Given the description of an element on the screen output the (x, y) to click on. 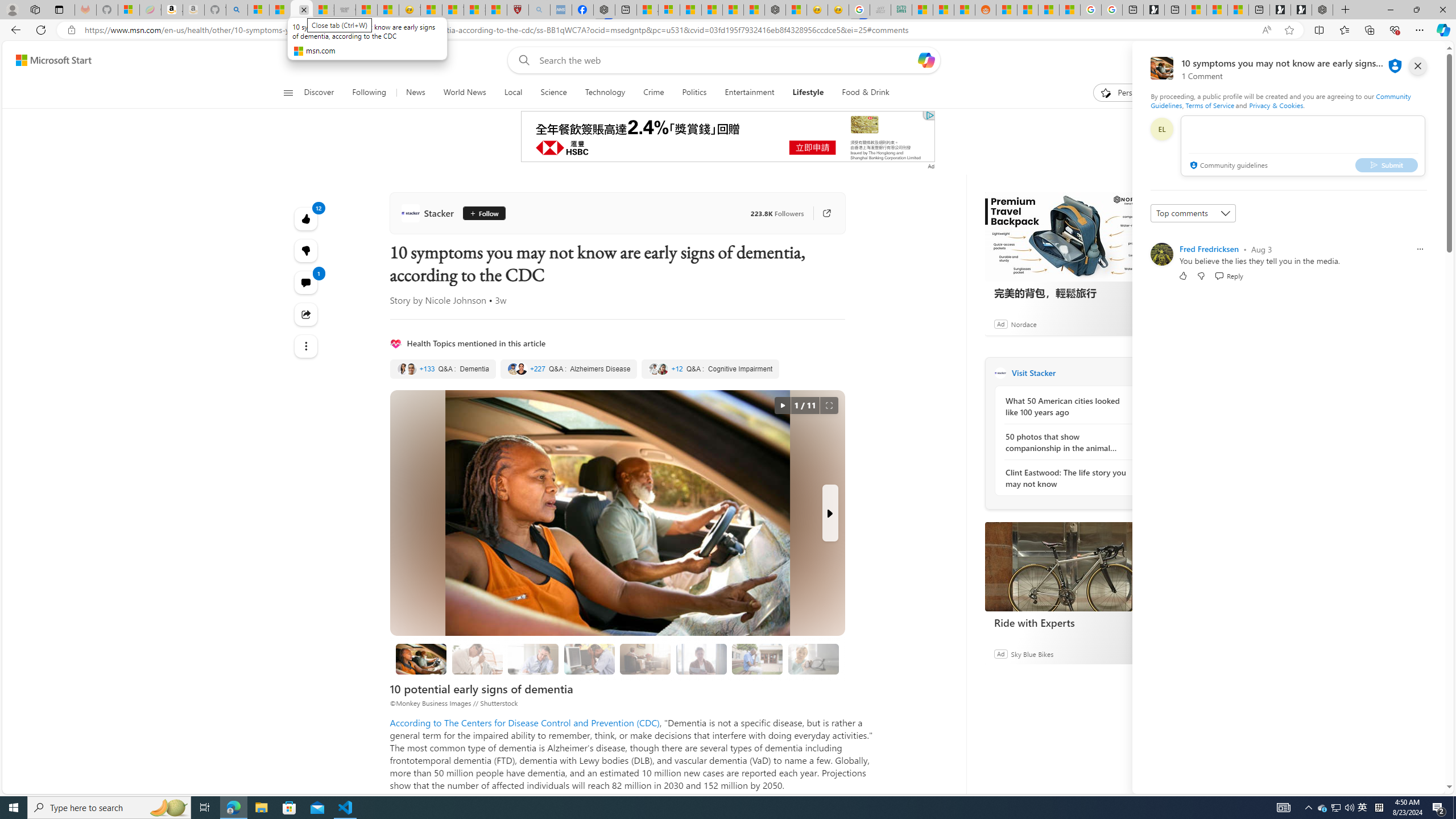
MSNBC - MSN (922, 9)
World News (464, 92)
Ad (999, 653)
Technology (605, 92)
Combat Siege (345, 9)
Entertainment (748, 92)
Stocks - MSN (323, 9)
Submit (1386, 164)
